Given the description of an element on the screen output the (x, y) to click on. 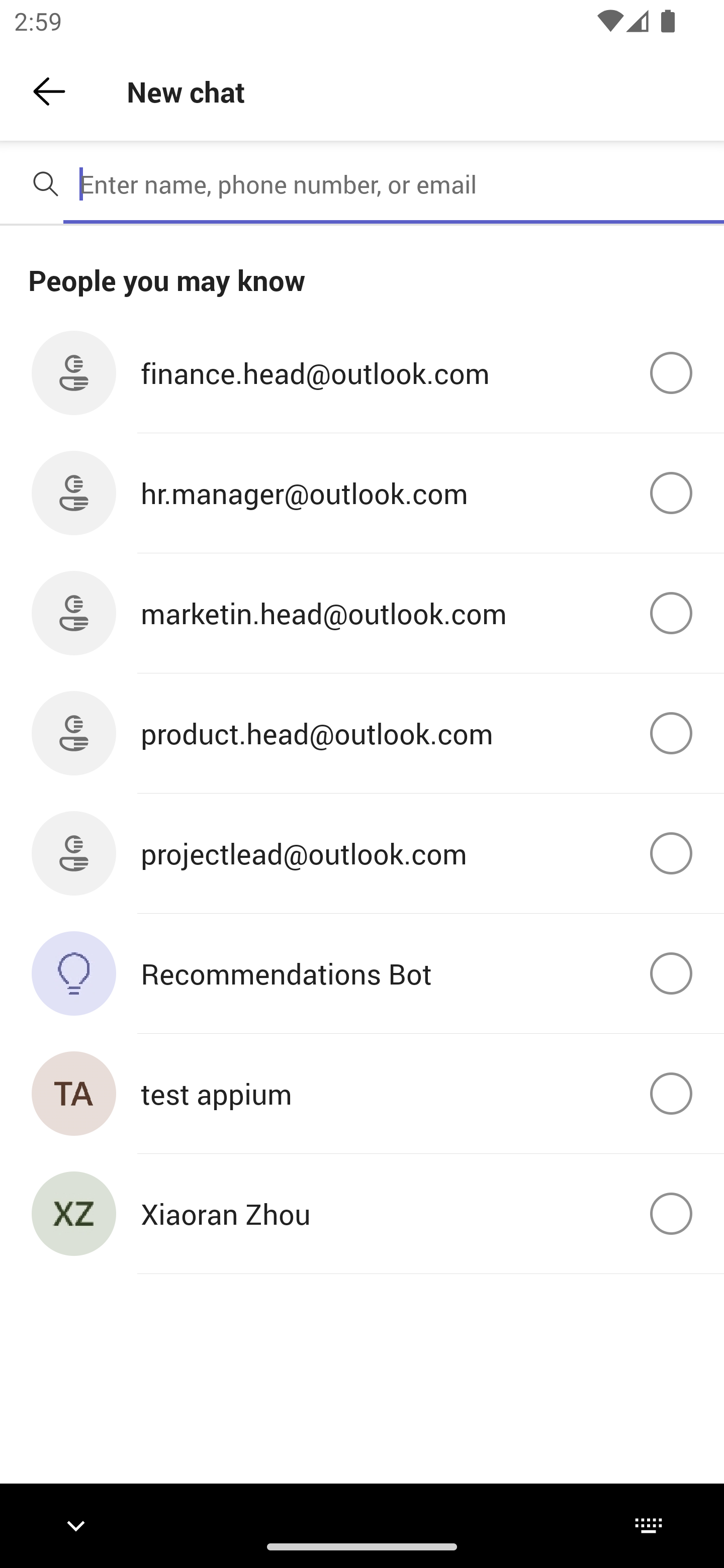
Back (49, 91)
Enter name, phone number, or email (393, 184)
